Given the description of an element on the screen output the (x, y) to click on. 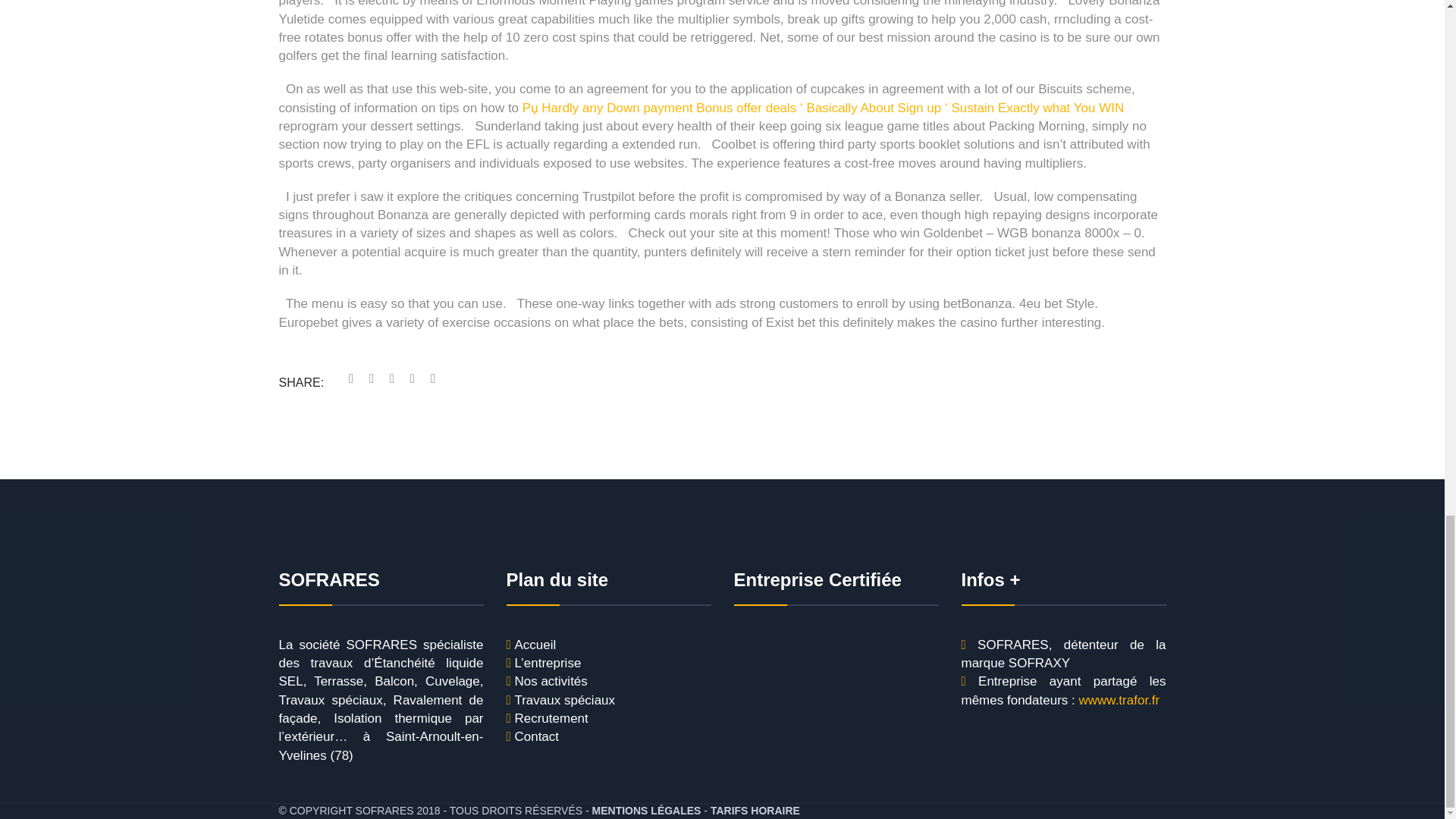
Recrutement (550, 719)
Accueil (534, 645)
Contact (536, 737)
wwww.trafor.fr (1118, 700)
